Given the description of an element on the screen output the (x, y) to click on. 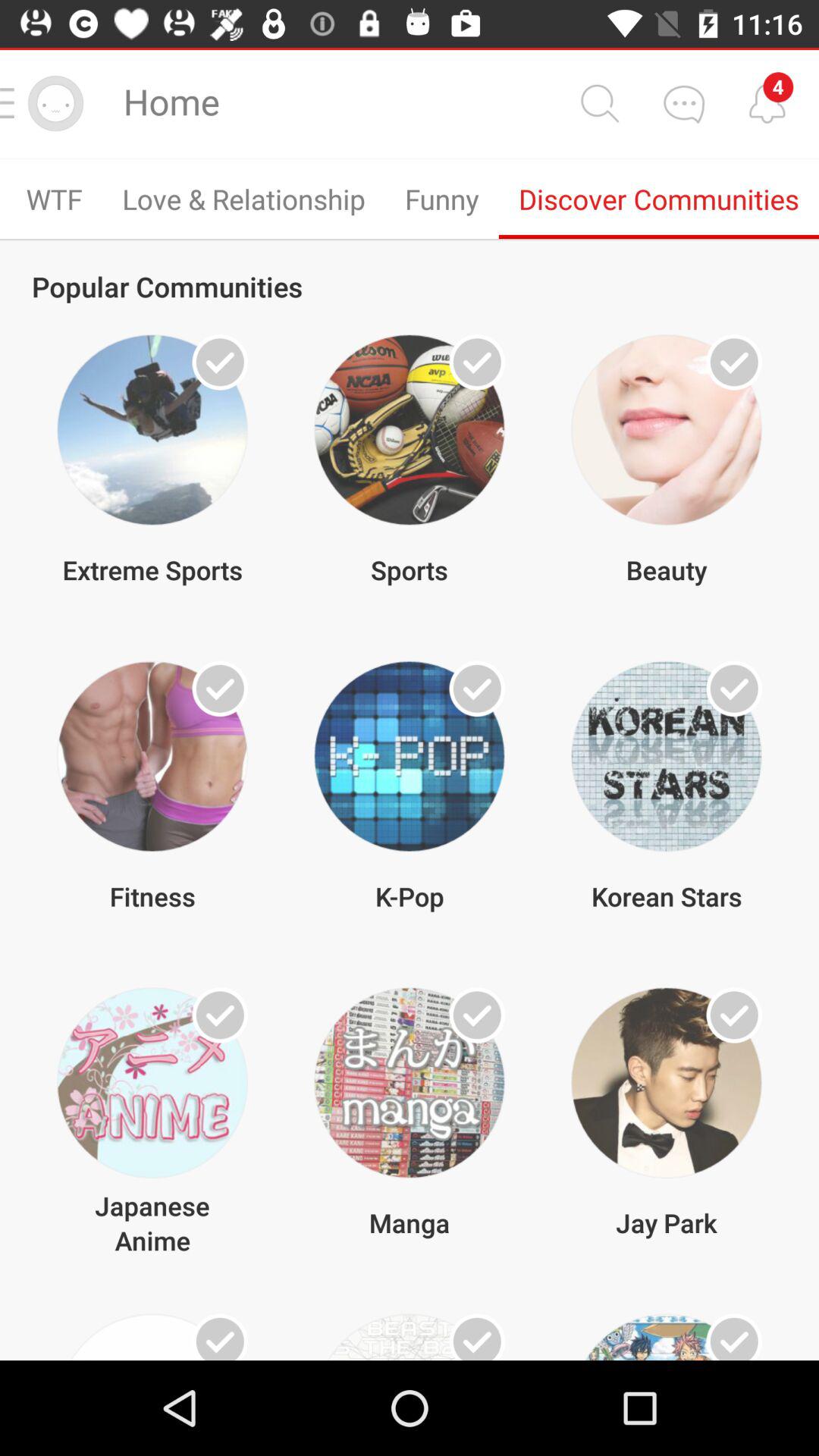
select the icon which is left to the home (55, 103)
select the search bar icon (599, 102)
select the bell icon (766, 102)
select the 11th icon (409, 1336)
select the  tick mark from the 1st image (220, 362)
